Given the description of an element on the screen output the (x, y) to click on. 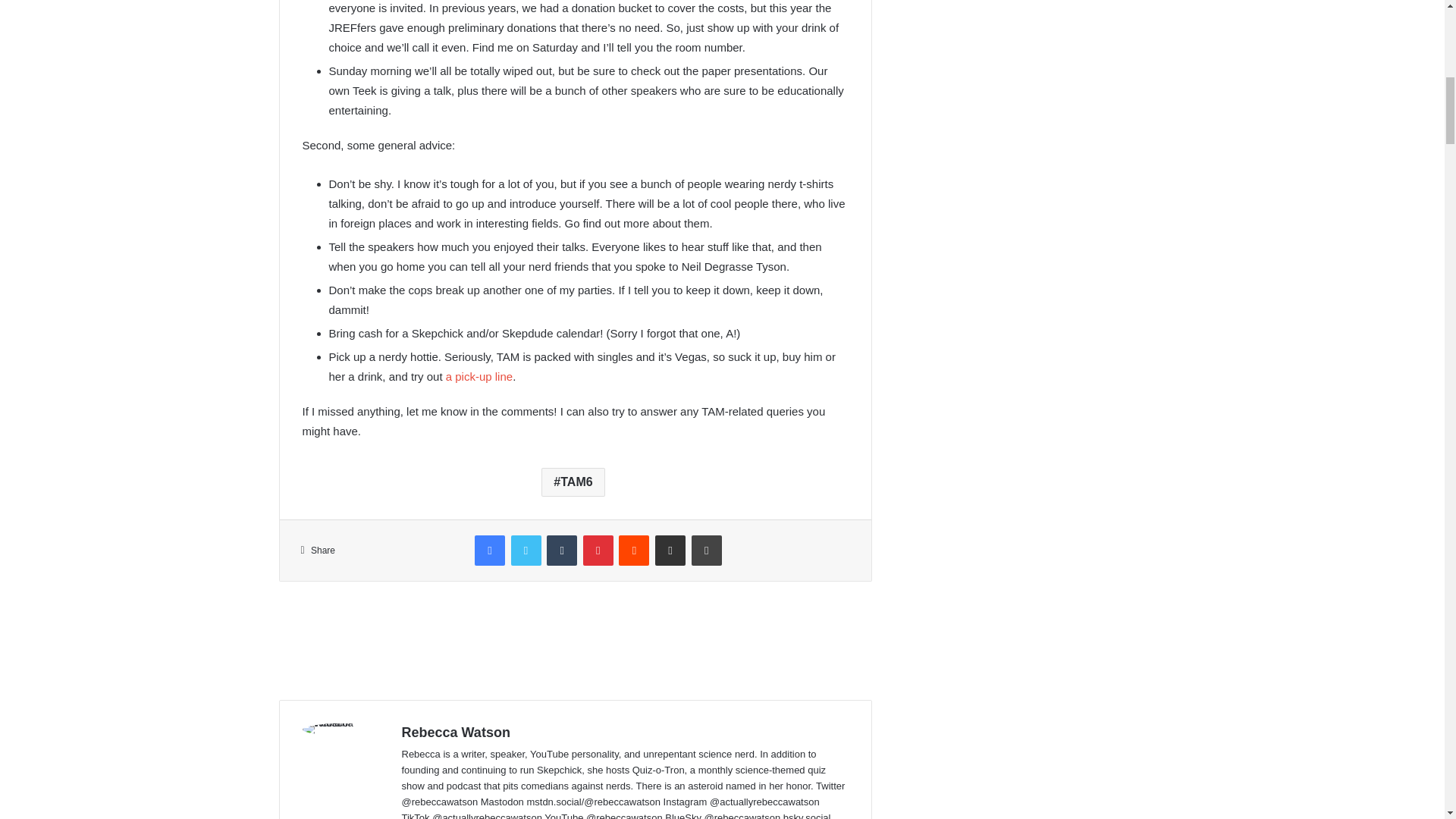
Facebook (489, 550)
Tumblr (561, 550)
Facebook (489, 550)
Share via Email (670, 550)
Share via Email (670, 550)
Tumblr (561, 550)
Print (706, 550)
TAM6 (572, 481)
Print (706, 550)
Rebecca Watson (456, 732)
Twitter (526, 550)
Reddit (633, 550)
Pinterest (597, 550)
Reddit (633, 550)
Pinterest (597, 550)
